Given the description of an element on the screen output the (x, y) to click on. 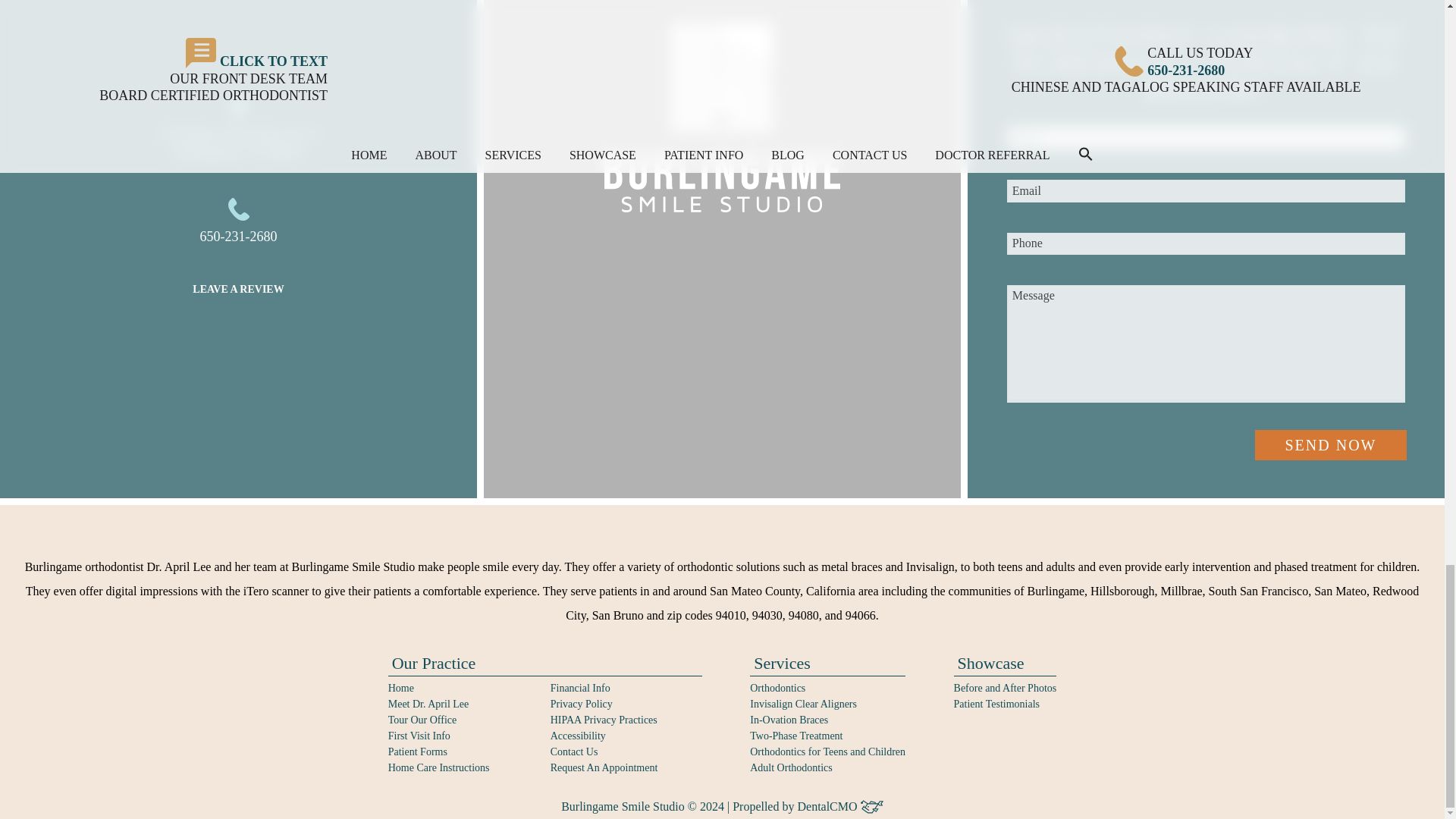
Send Now (1330, 444)
Home (400, 687)
